Given the description of an element on the screen output the (x, y) to click on. 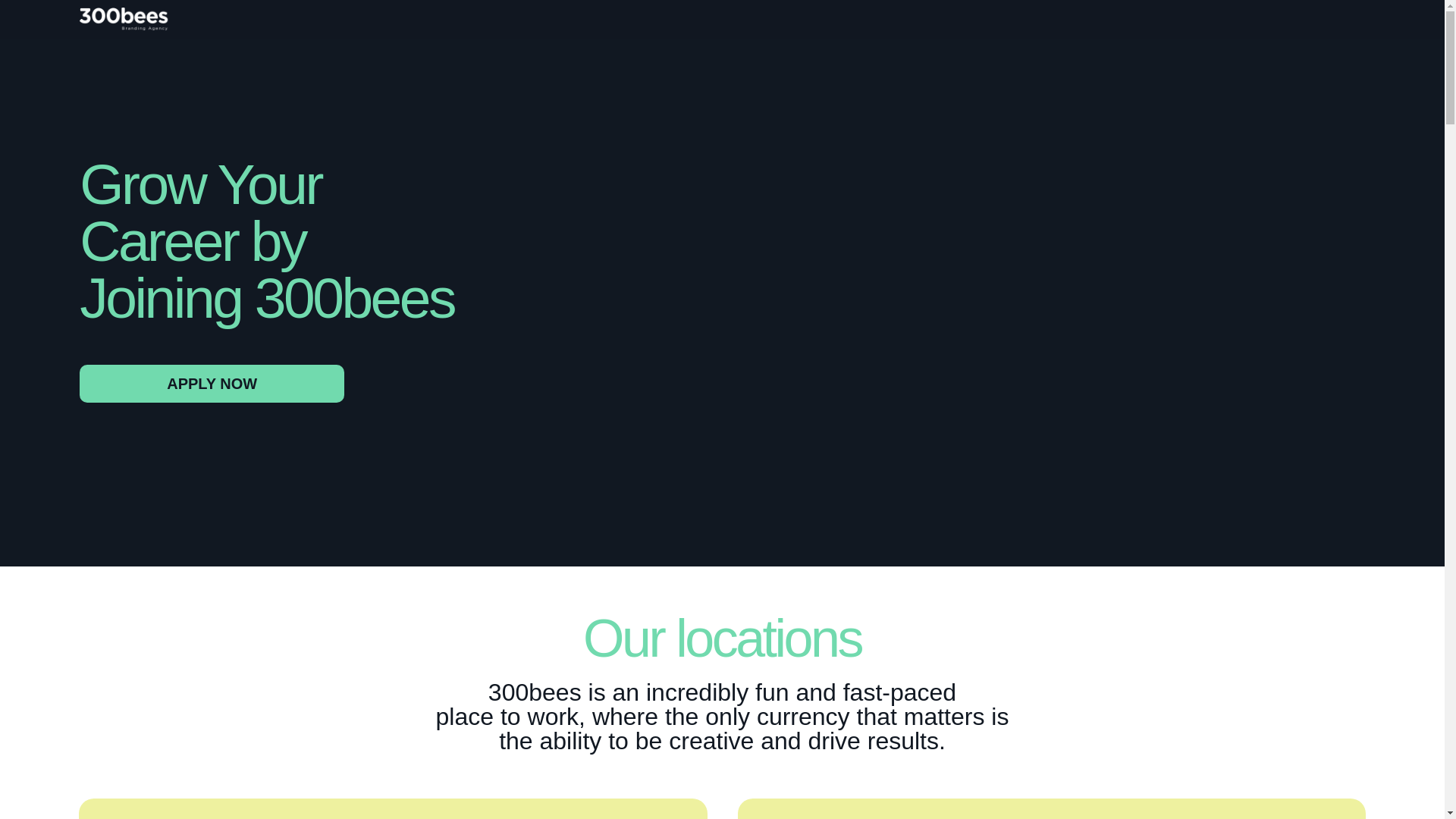
APPLY NOW Element type: text (211, 383)
